Given the description of an element on the screen output the (x, y) to click on. 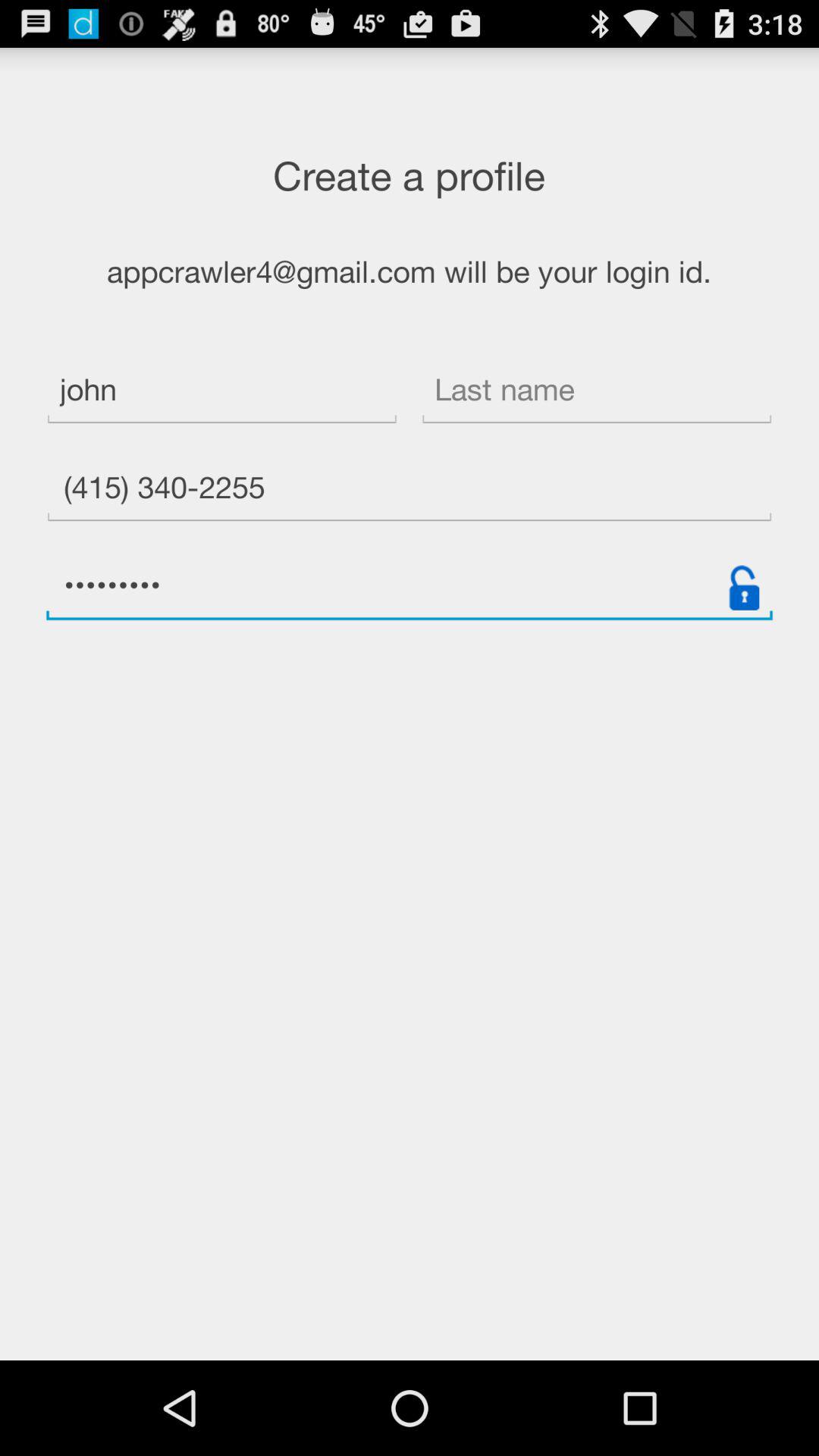
turn on icon above the (415) 340-2255 (596, 392)
